Given the description of an element on the screen output the (x, y) to click on. 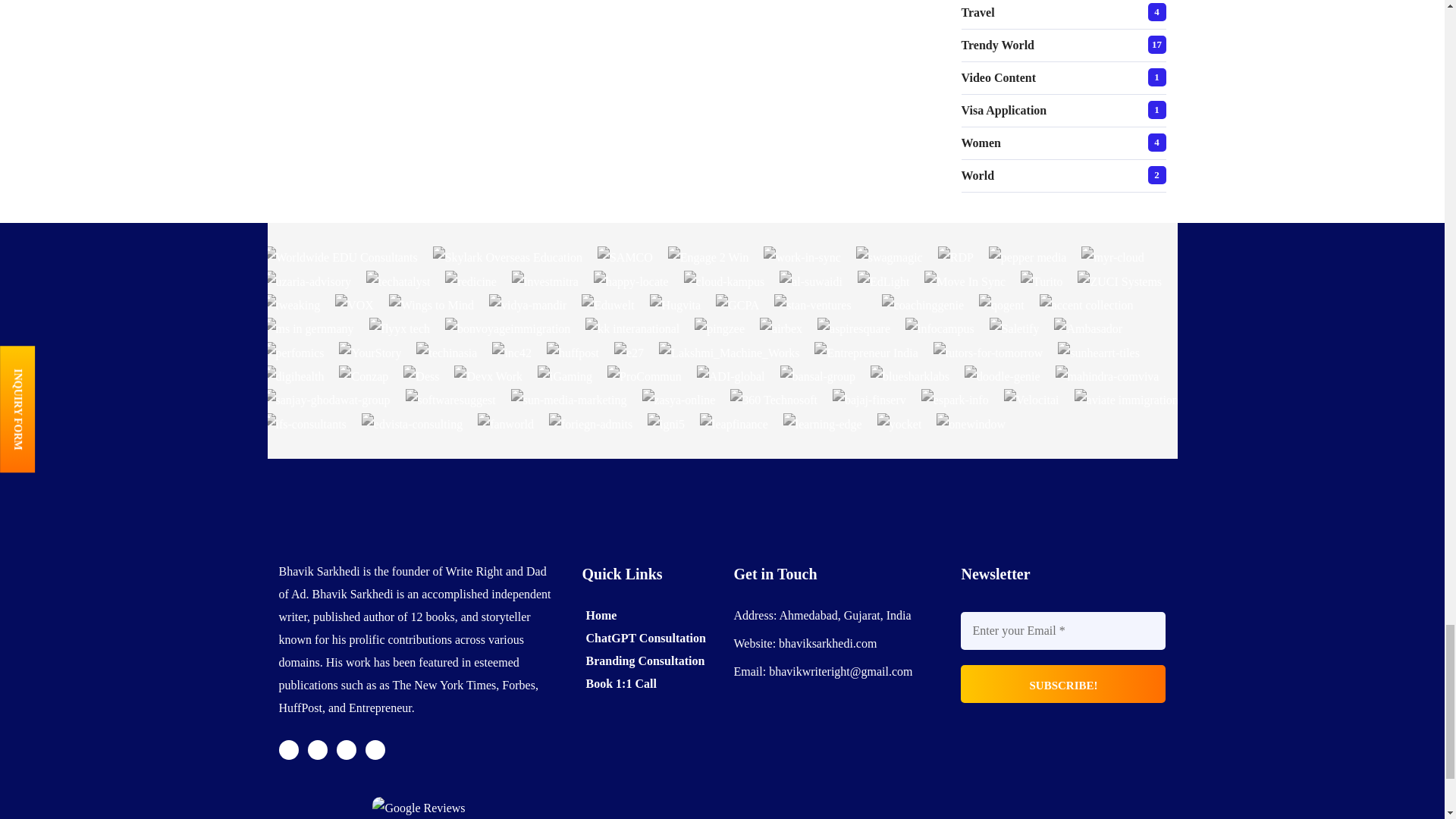
Facebook (317, 750)
Instagram (346, 750)
Subscribe! (1063, 683)
Linkedin (375, 750)
Twitter (288, 750)
Enter your Email (1063, 630)
